Given the description of an element on the screen output the (x, y) to click on. 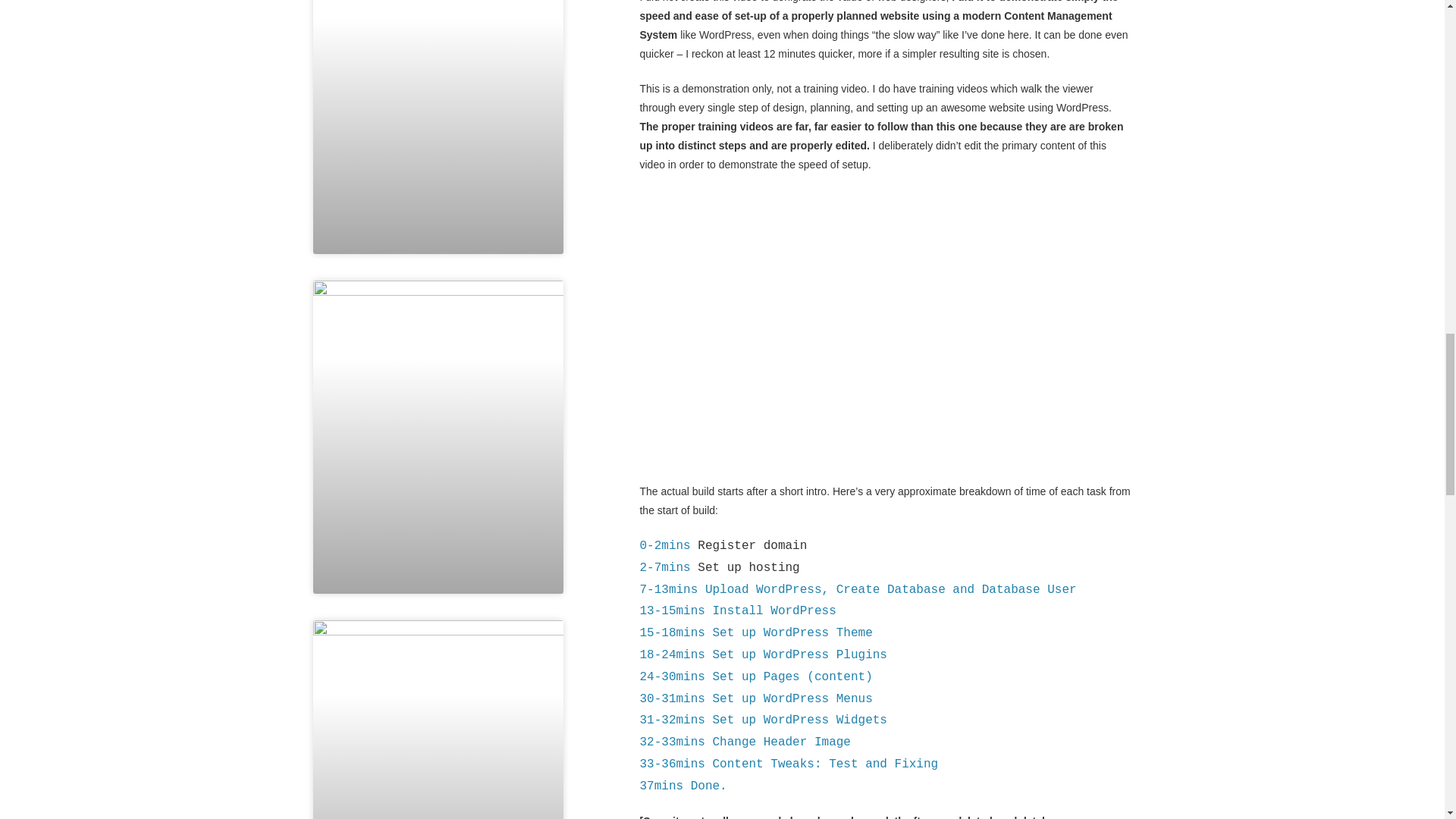
Set up hosting (748, 567)
training videos (952, 88)
Register domain (751, 545)
